Given the description of an element on the screen output the (x, y) to click on. 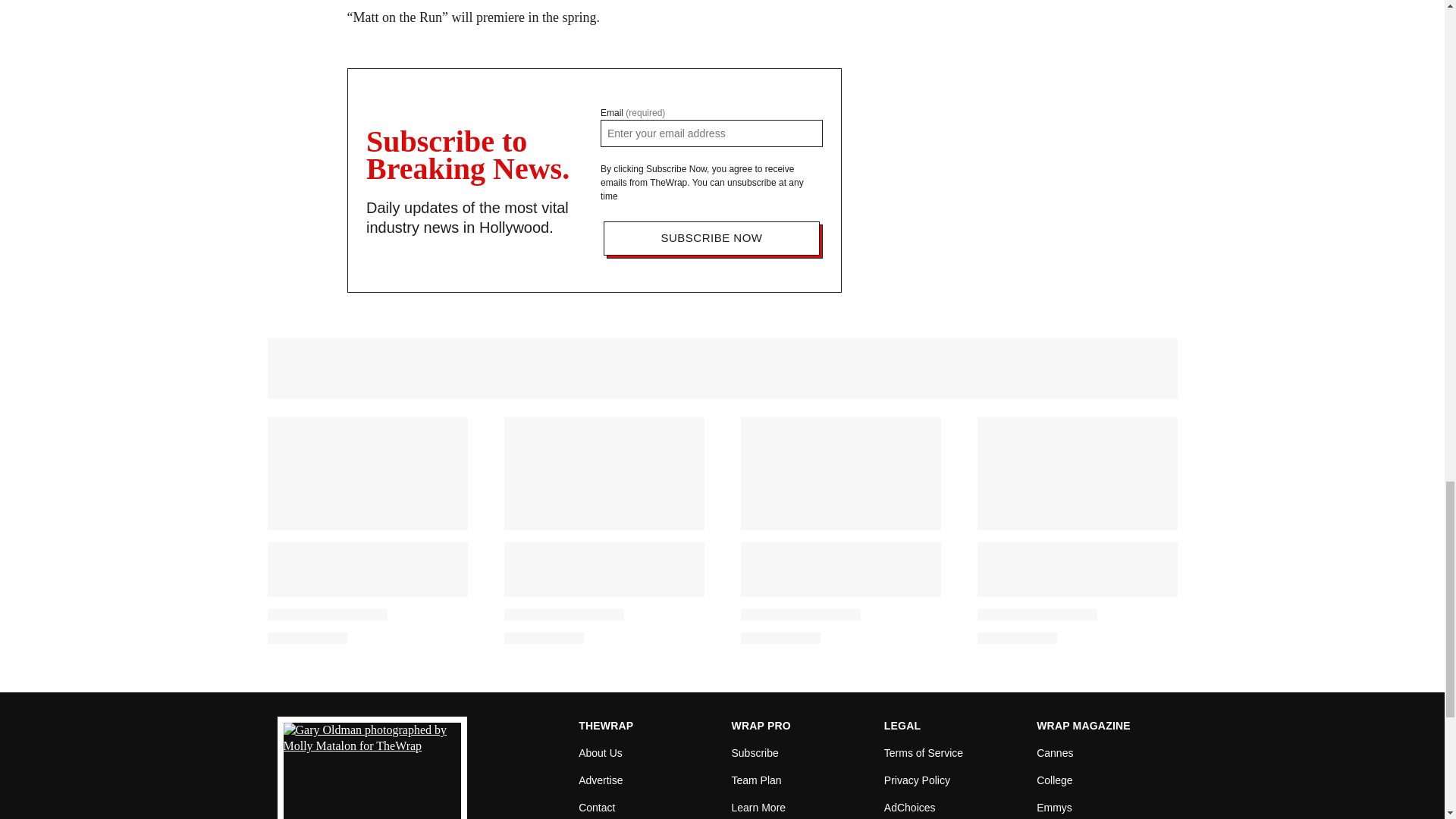
Learn more about becoming a member (758, 806)
